Given the description of an element on the screen output the (x, y) to click on. 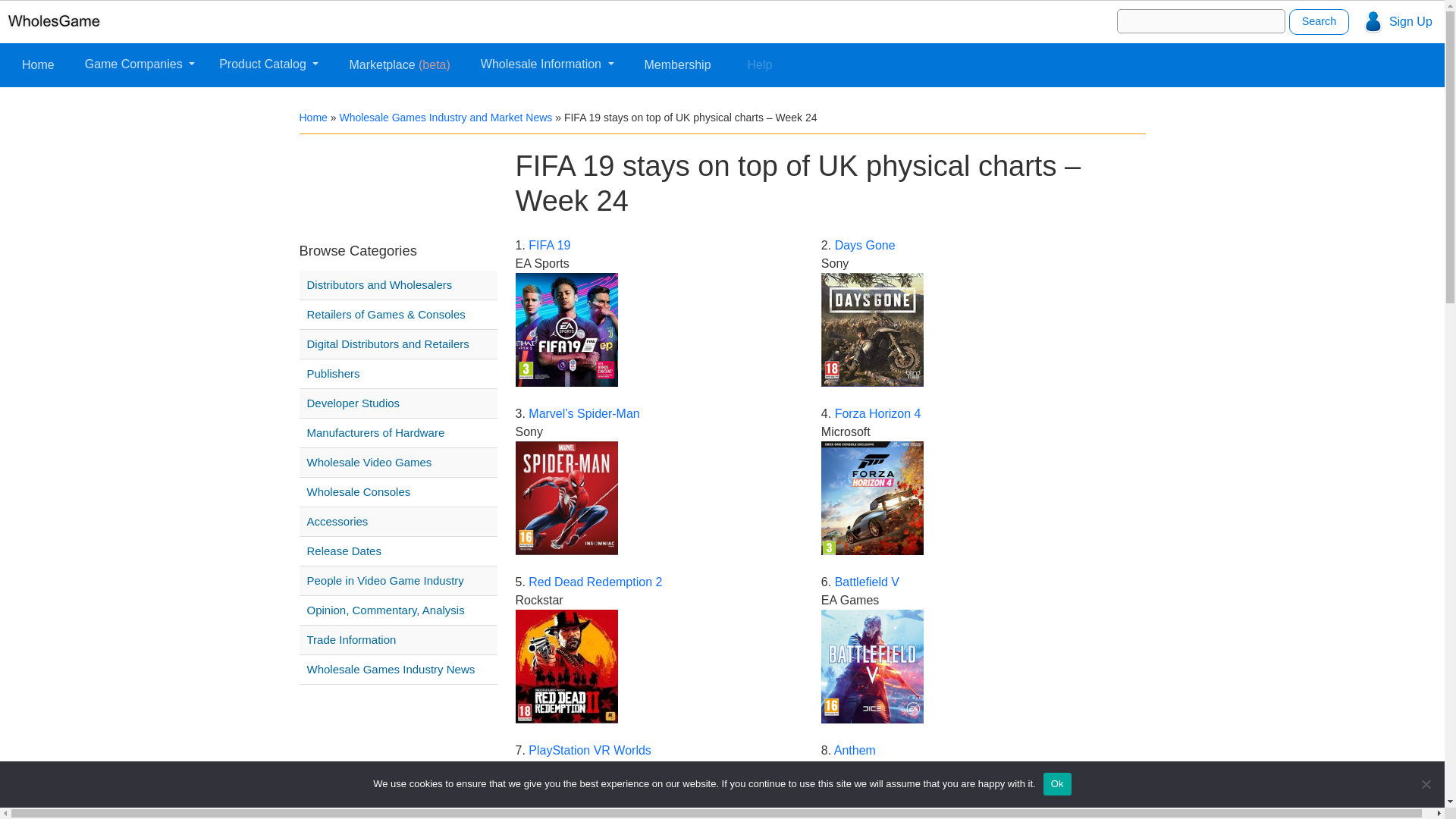
Membership (678, 65)
Product Catalog (268, 63)
Search (1318, 22)
Search (1318, 22)
No (1425, 783)
Help (759, 65)
Home (312, 117)
Home (38, 65)
Wholesale Information (547, 63)
Game Companies (139, 63)
Wholesale Games Industry and Market News (445, 117)
Distributors and Wholesalers (400, 285)
Digital Distributors and Retailers (400, 343)
